Given the description of an element on the screen output the (x, y) to click on. 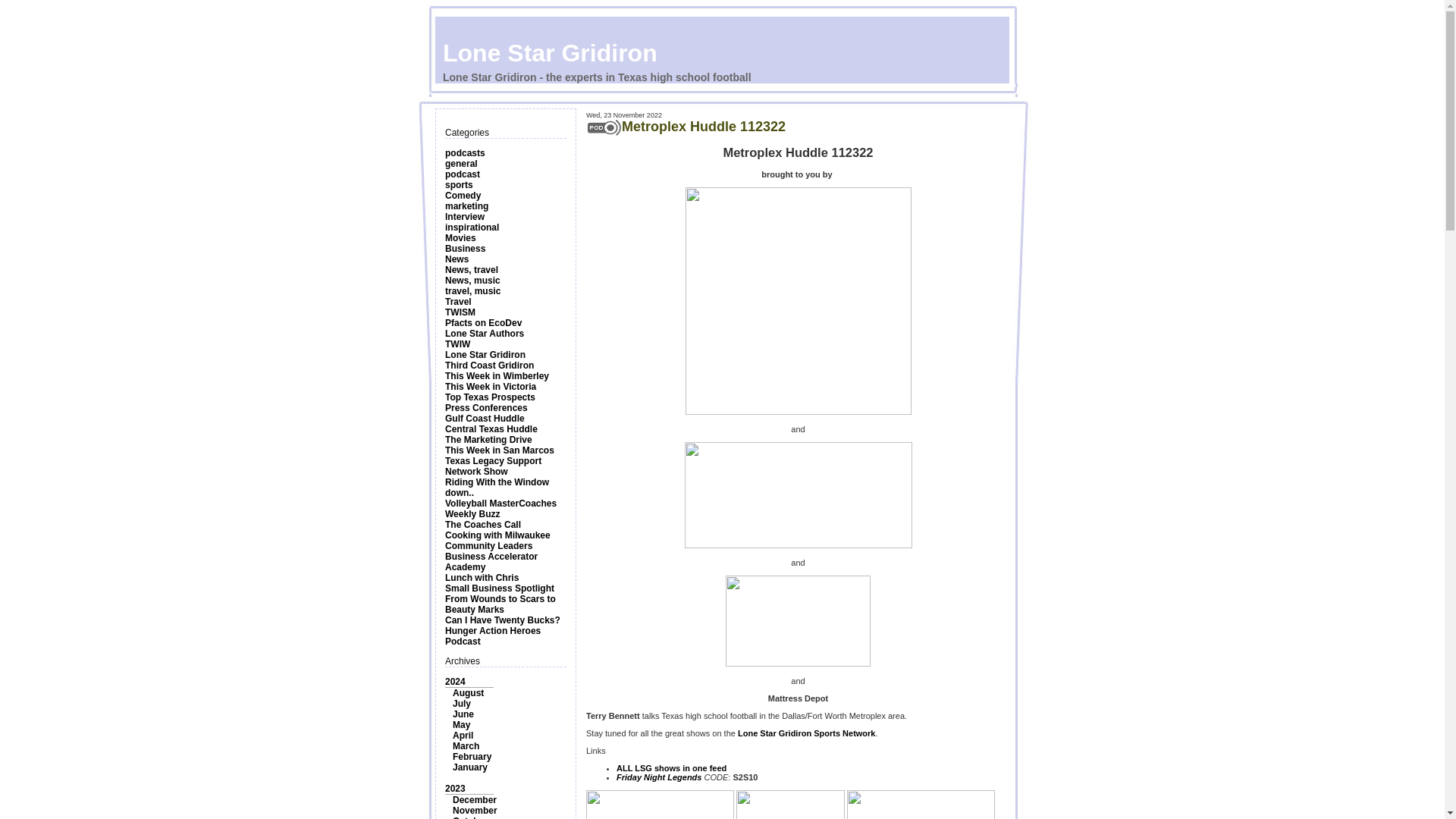
Central Texas Huddle (491, 429)
Small Business Spotlight (499, 588)
Lone Star Authors (484, 333)
The Marketing Drive (488, 439)
podcast (462, 173)
TWISM (460, 312)
Third Coast Gridiron (489, 365)
TWIW (457, 344)
inspirational (472, 226)
Can I Have Twenty Bucks? (502, 620)
